Given the description of an element on the screen output the (x, y) to click on. 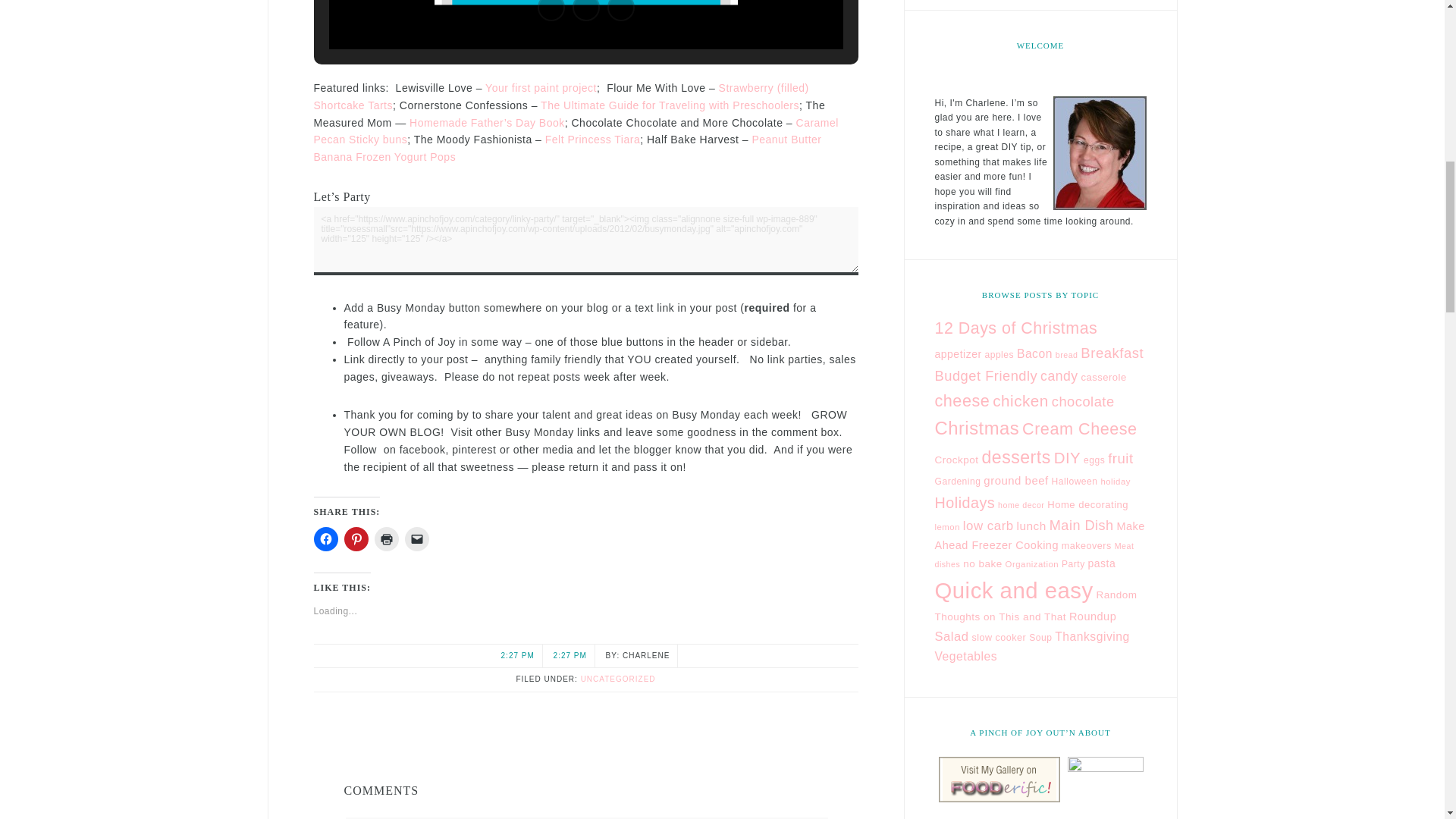
The Moody Fashionista (592, 139)
The Measured Mom (486, 122)
Caramel Pecan Sticky buns (576, 131)
Lewisville Love (540, 87)
Felt Princess Tiara (592, 139)
Half Baked Harvest (568, 147)
Chocolate, chocolate and more (576, 131)
Click to share on Facebook (325, 539)
Click to share on Pinterest (355, 539)
The Ultimate Guide for Traveling with Preschoolers (669, 105)
